Given the description of an element on the screen output the (x, y) to click on. 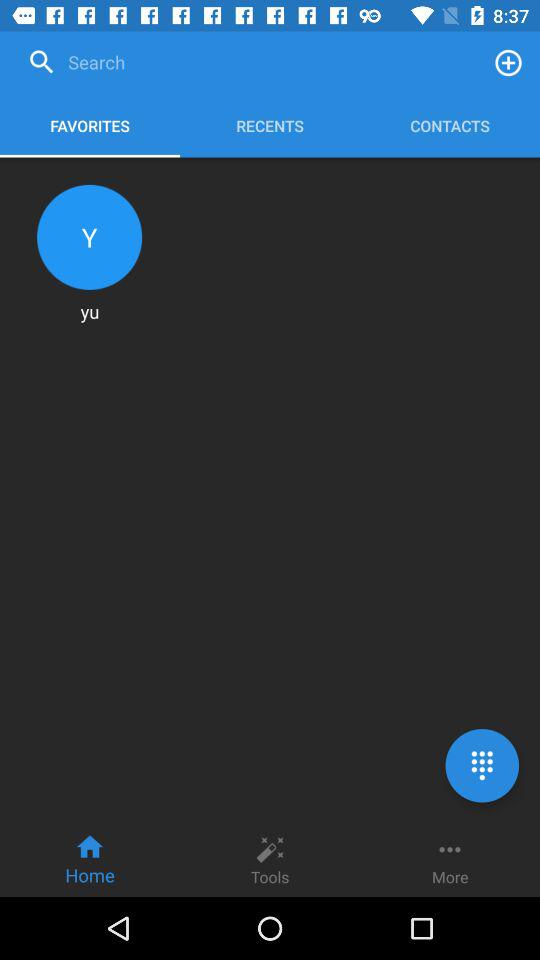
go to menu (482, 765)
